Given the description of an element on the screen output the (x, y) to click on. 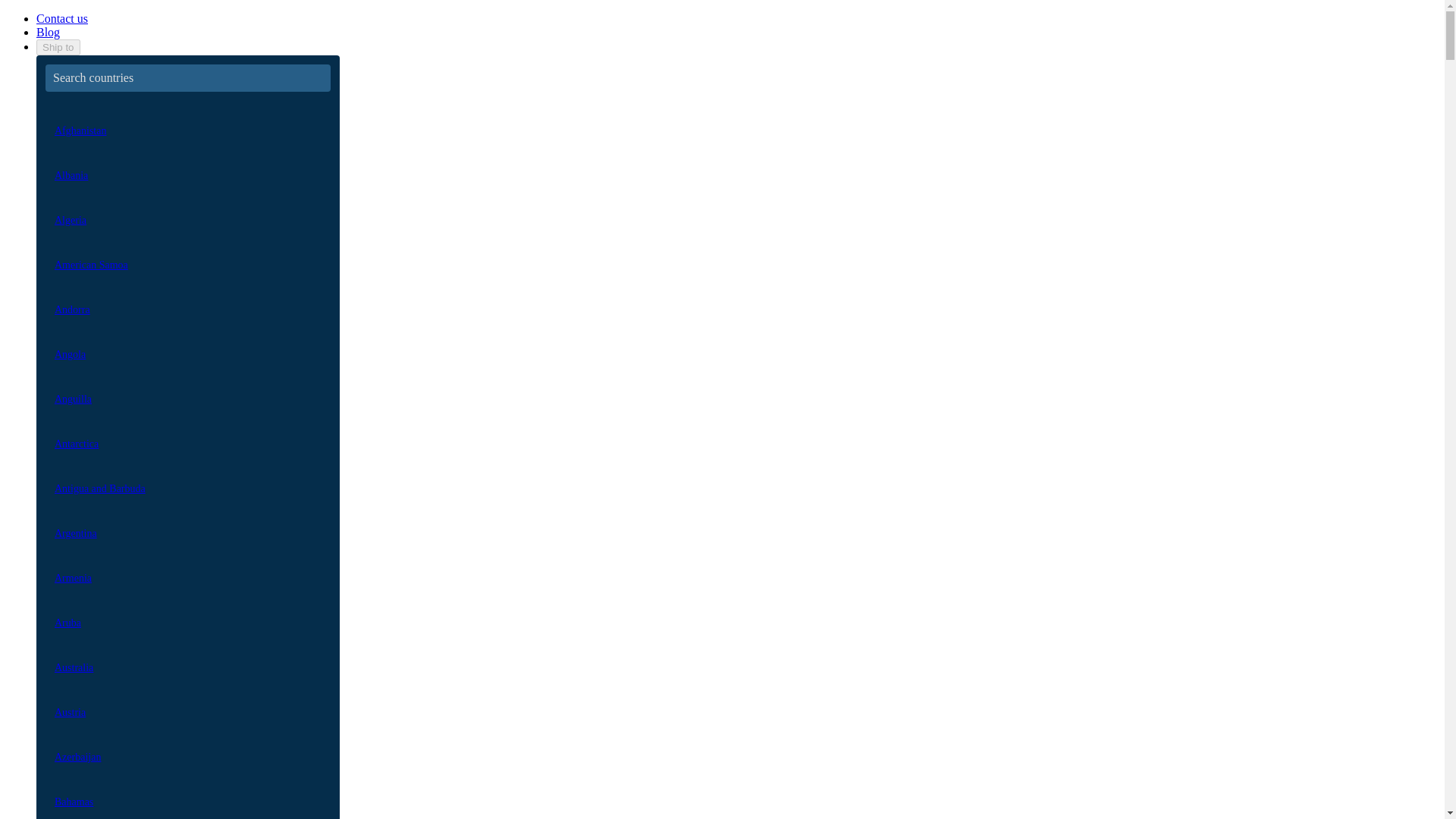
Argentina (187, 524)
Antarctica (187, 434)
Azerbaijan (187, 747)
Antigua and Barbuda (187, 479)
Albania (187, 166)
Ship to (58, 47)
Armenia (187, 569)
Anguilla (187, 389)
Bahamas (187, 792)
Australia (187, 658)
